Given the description of an element on the screen output the (x, y) to click on. 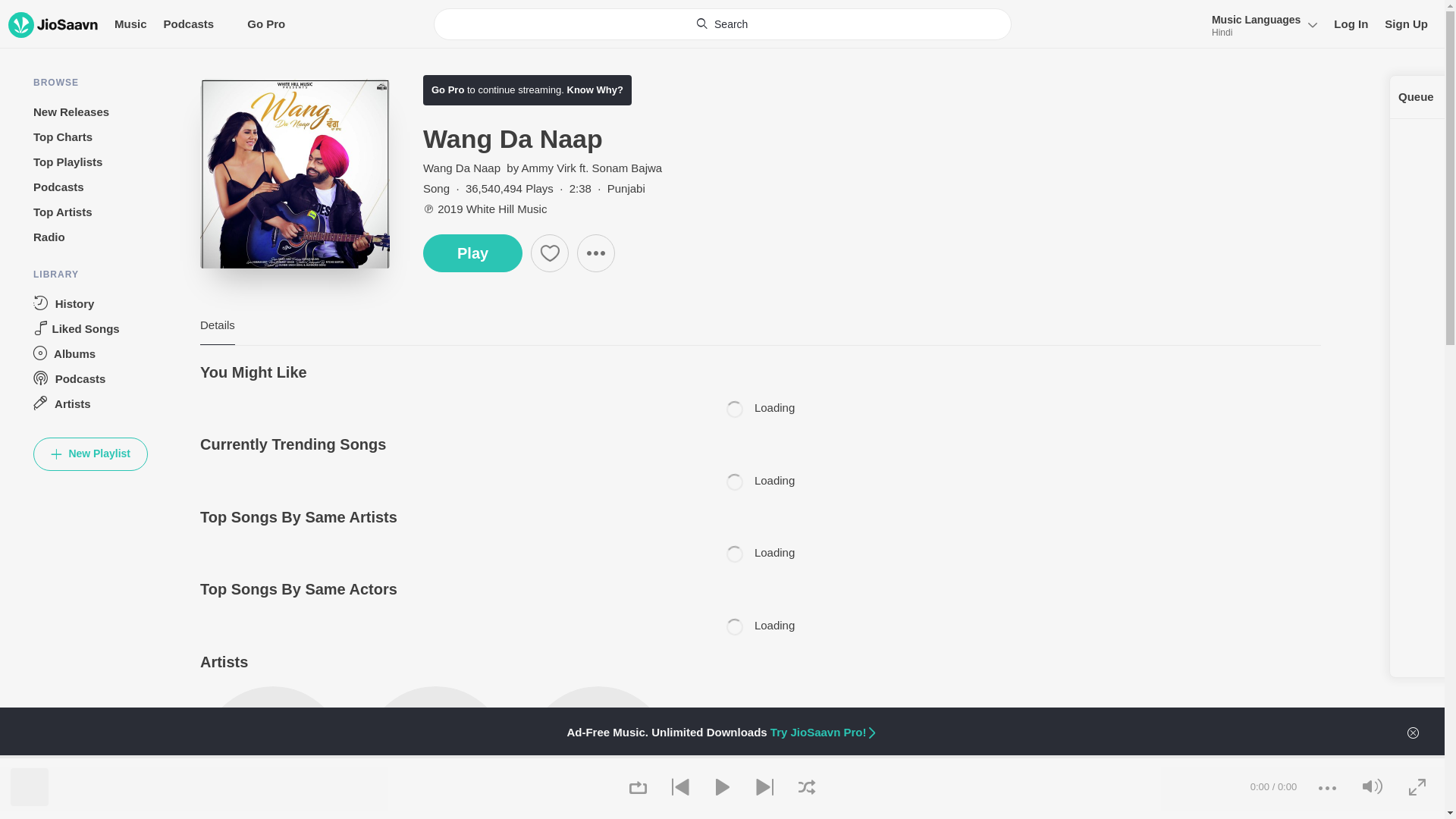
Music (131, 23)
Music (131, 23)
Log In (1350, 23)
Logo Button (52, 24)
Know Why? (593, 89)
Podcasts (188, 23)
Go Pro (447, 89)
Wang Da Naap (463, 167)
Sign Up (1406, 23)
